Given the description of an element on the screen output the (x, y) to click on. 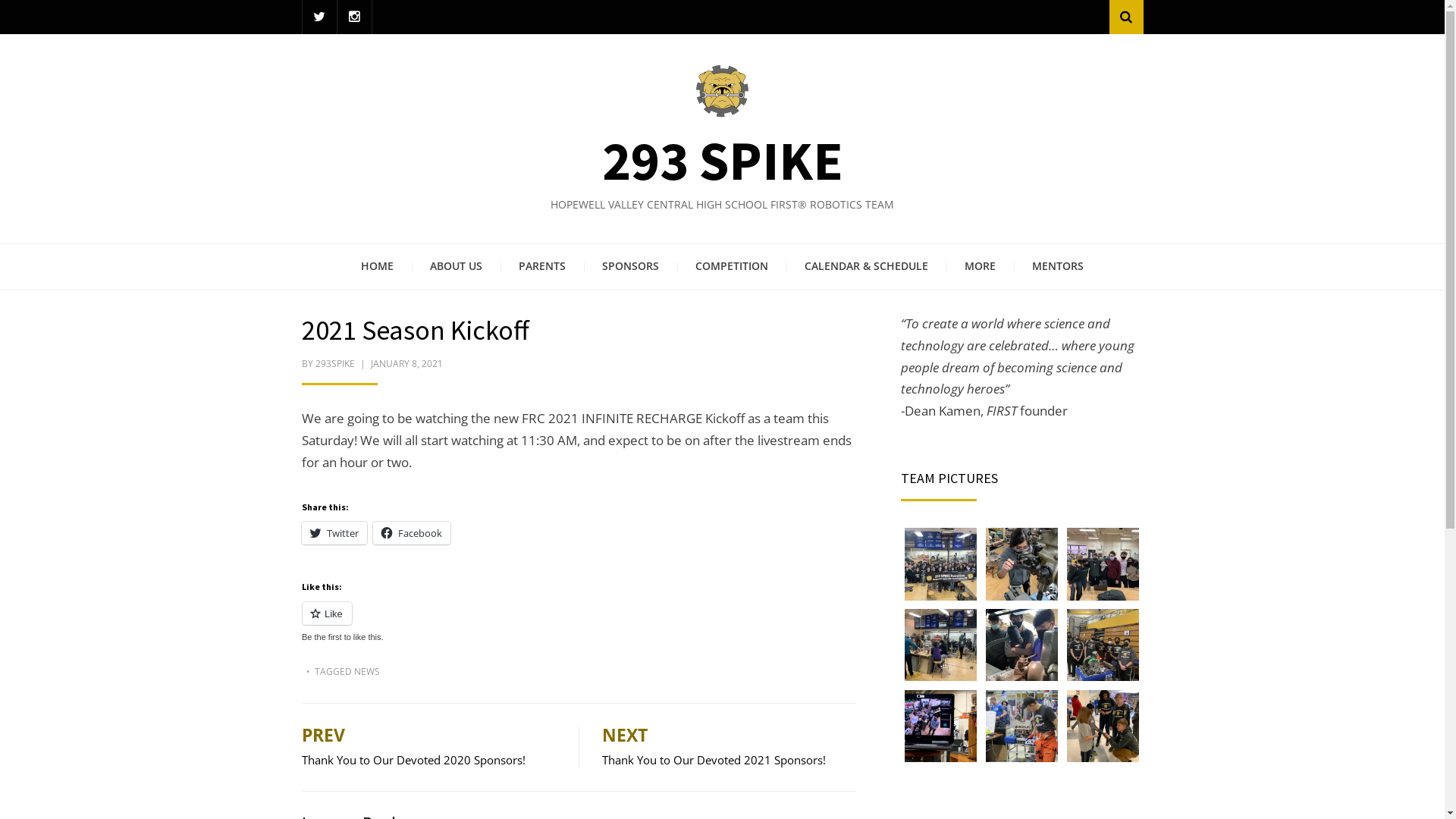
Twitter Element type: text (334, 532)
PARENTS Element type: text (541, 266)
Facebook Element type: text (411, 532)
Like or Reblog Element type: hover (578, 622)
Instagram Element type: text (353, 17)
JANUARY 8, 2021 Element type: text (405, 363)
293 SPIKE Element type: text (722, 159)
NEWS Element type: text (366, 671)
PREV
Thank You to Our Devoted 2020 Sponsors! Element type: text (428, 747)
293SPIKE Element type: text (334, 363)
NEXT
Thank You to Our Devoted 2021 Sponsors! Element type: text (728, 747)
SPONSORS Element type: text (630, 266)
HOME Element type: text (376, 266)
Search Element type: text (1125, 17)
ABOUT US Element type: text (455, 266)
Twitter Element type: text (318, 17)
CALENDAR & SCHEDULE Element type: text (866, 266)
MORE Element type: text (979, 266)
MENTORS Element type: text (1057, 266)
COMPETITION Element type: text (731, 266)
